Given the description of an element on the screen output the (x, y) to click on. 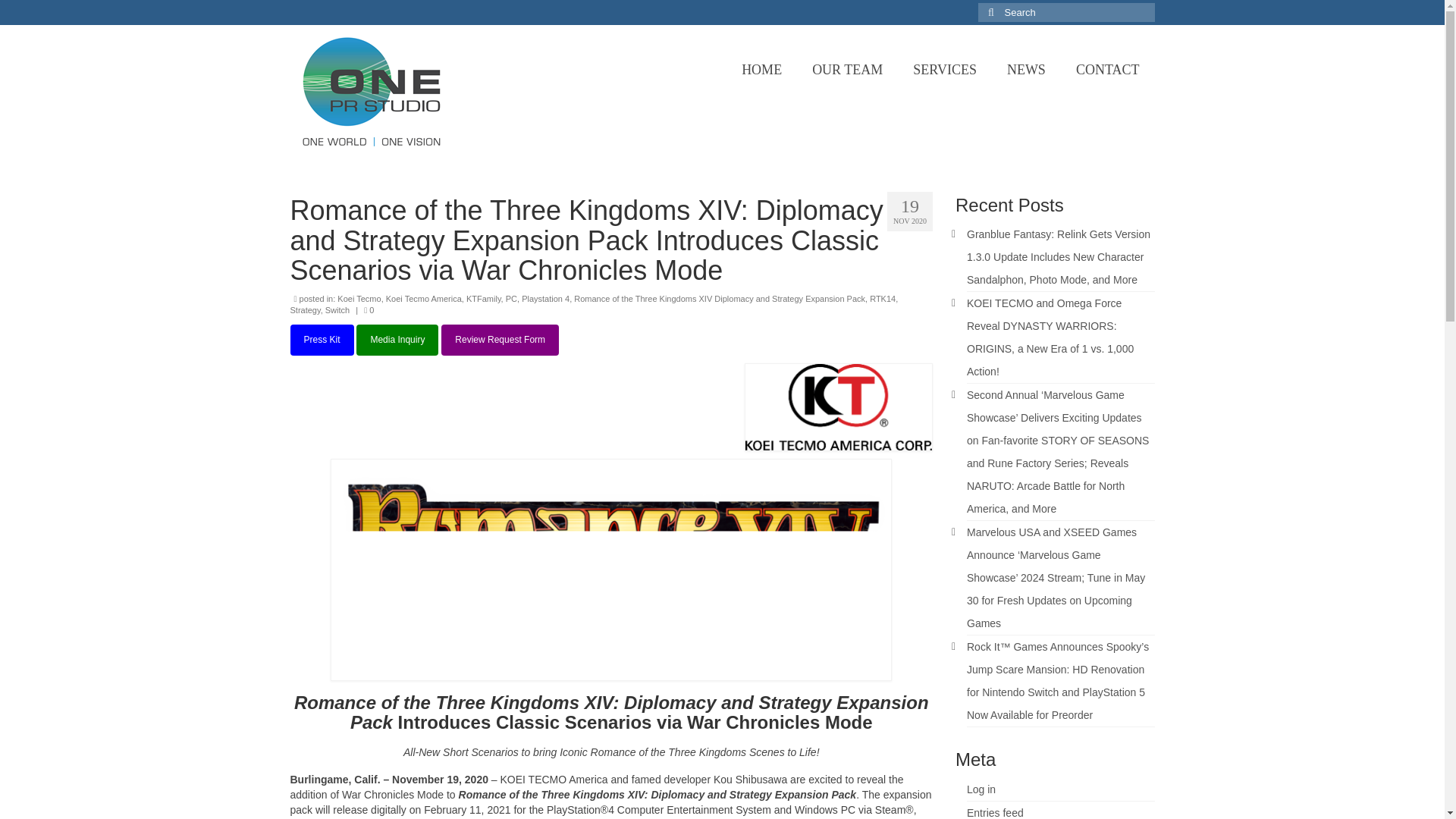
Koei Tecmo (358, 298)
HOME (761, 69)
Koei Tecmo America (423, 298)
Press Kit (321, 339)
OUR TEAM (847, 69)
Media Inquiry (397, 339)
SERVICES (944, 69)
Playstation 4 (545, 298)
Strategy (304, 309)
